Given the description of an element on the screen output the (x, y) to click on. 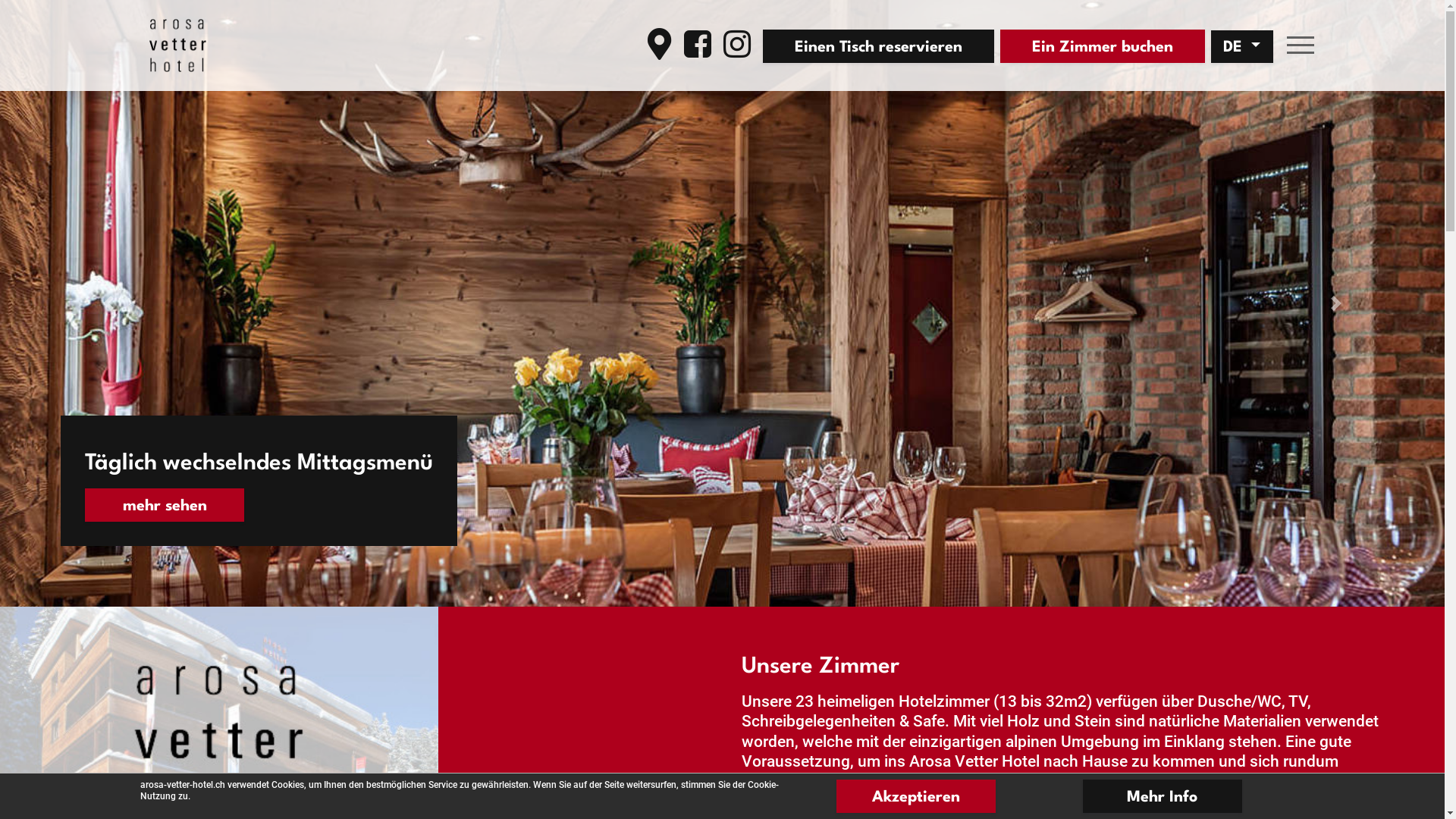
Mehr Info Element type: text (1162, 795)
Google maps Element type: hover (659, 43)
mehr sehen Element type: text (245, 504)
Ein Zimmer buchen Element type: text (1101, 45)
*Next* Element type: text (1335, 303)
DE Element type: text (1241, 46)
Facebook Element type: hover (697, 43)
Einen Tisch reservieren Element type: text (878, 45)
Akzeptieren Element type: text (914, 795)
Instagram Element type: hover (736, 43)
*Previous* Element type: text (108, 303)
